Given the description of an element on the screen output the (x, y) to click on. 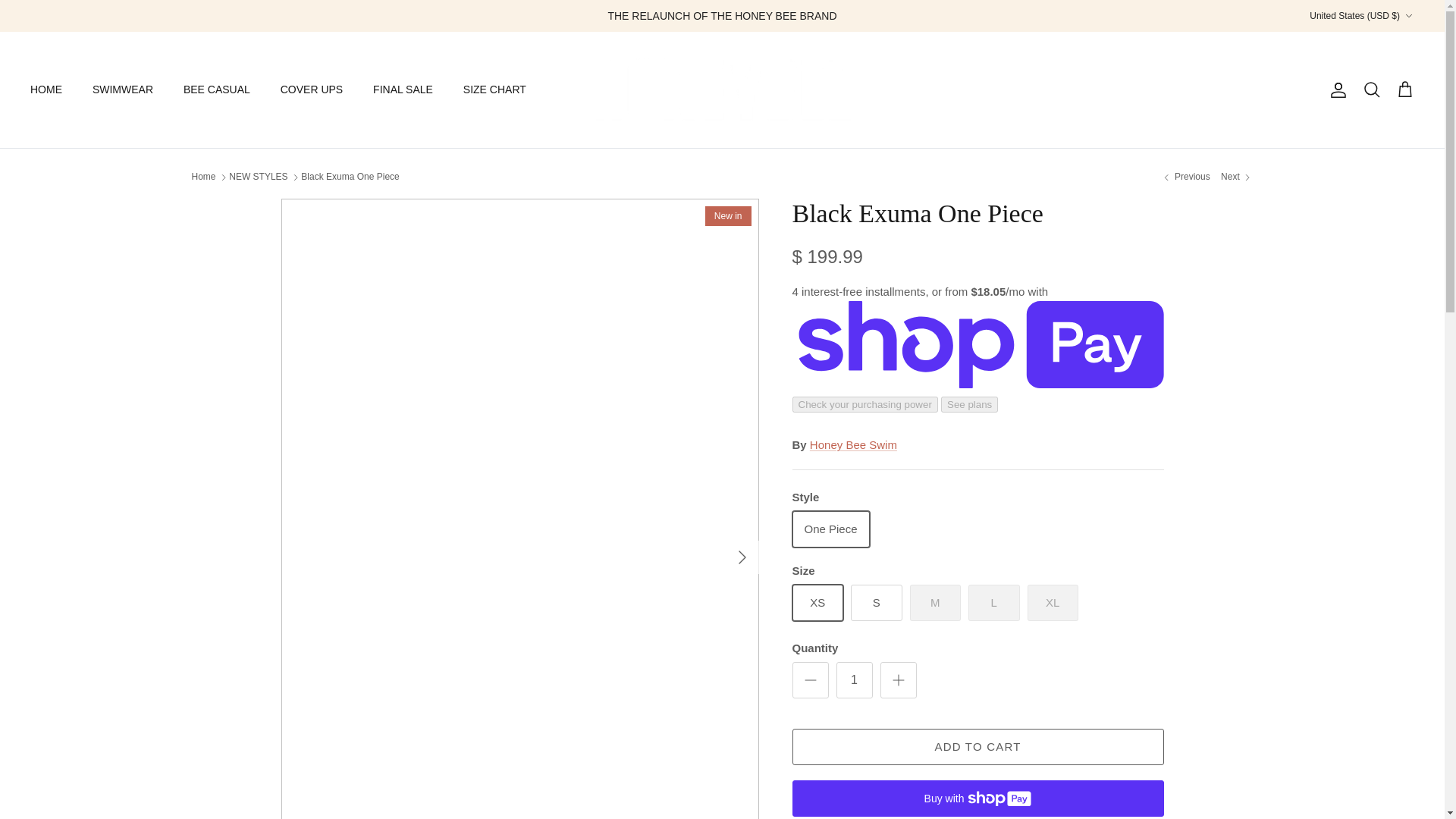
Plus (897, 679)
Black Bliss Beach Monokini (1184, 176)
HONEY BEE SWIM (722, 89)
RIGHT (741, 557)
Stripe Sydney (1236, 176)
1 (853, 679)
Minus (809, 679)
Down (1408, 15)
